Given the description of an element on the screen output the (x, y) to click on. 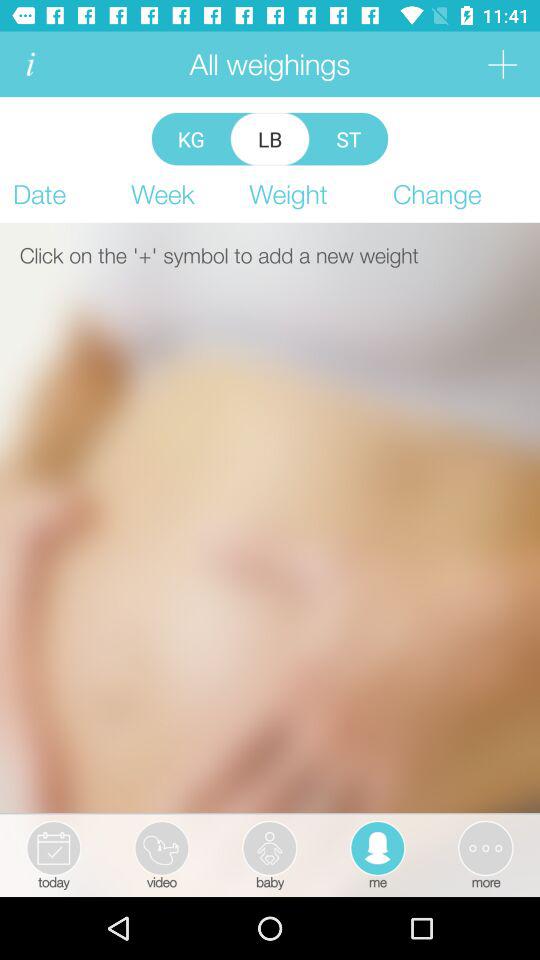
add weighing (502, 63)
